Given the description of an element on the screen output the (x, y) to click on. 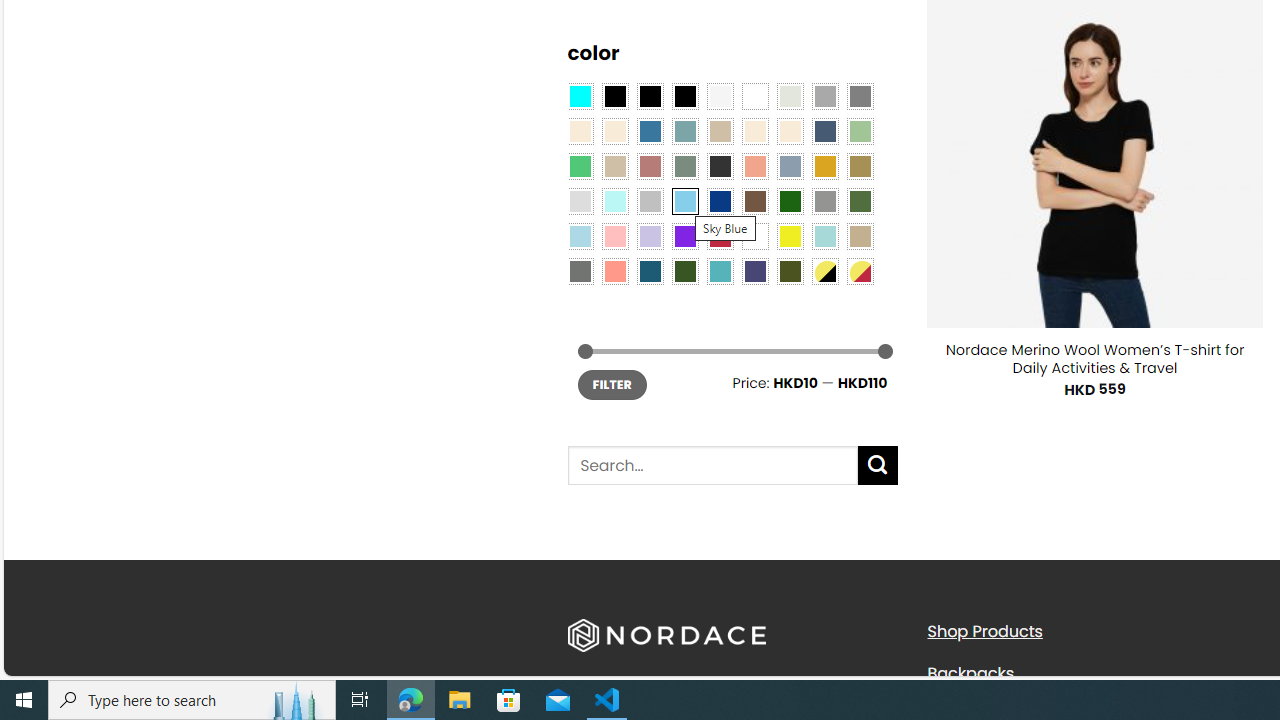
Light Purple (650, 236)
White (755, 236)
Blue (650, 131)
Beige (579, 131)
Backpacks (1092, 673)
Clear (755, 95)
Aqua (824, 236)
Mint (614, 200)
Capri Blue (650, 270)
Charcoal (719, 165)
Gold (824, 165)
Light Taupe (614, 165)
Peach Pink (614, 270)
Purple (684, 236)
Kelp (859, 165)
